Given the description of an element on the screen output the (x, y) to click on. 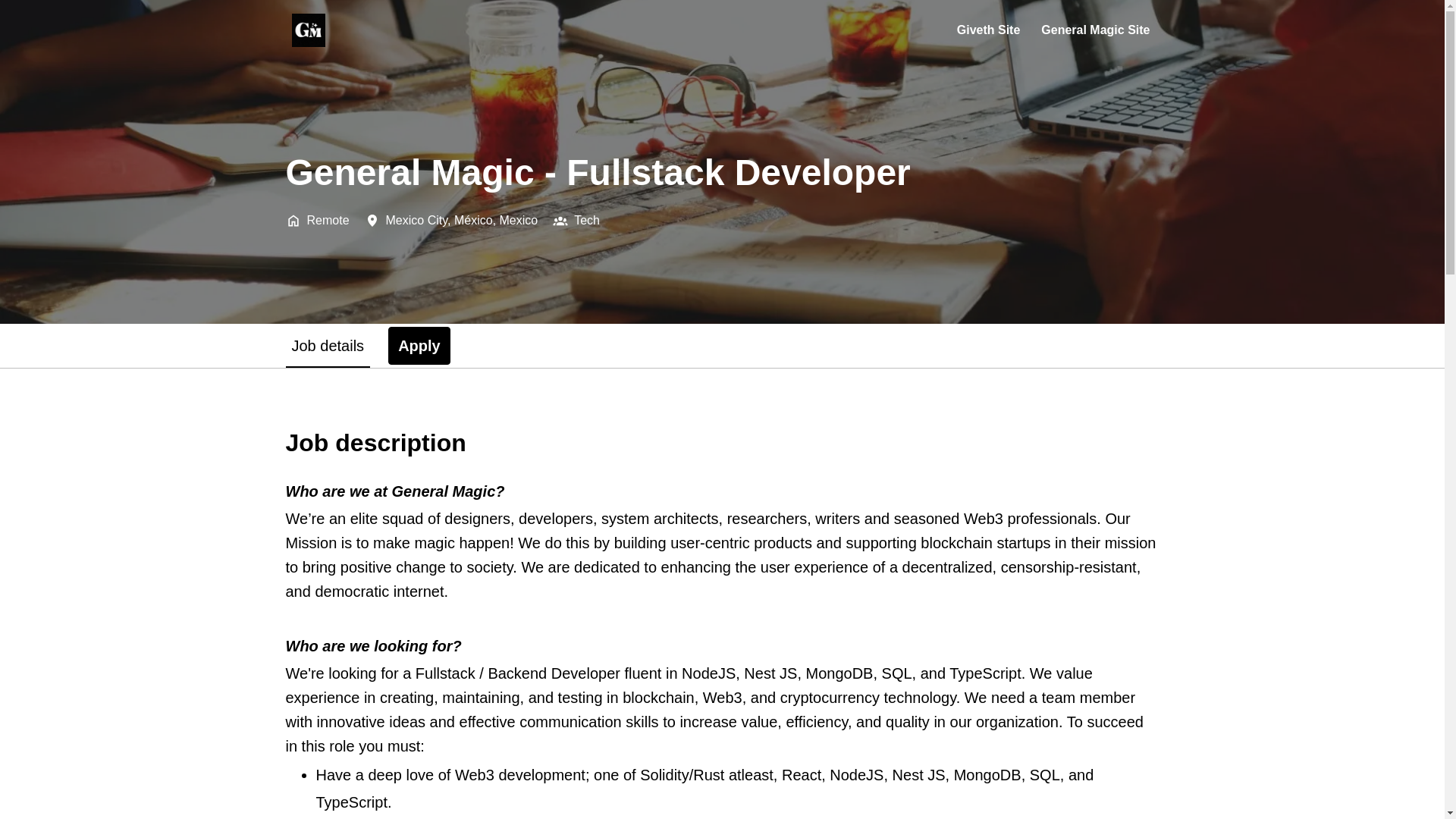
Giveth Site (988, 30)
Apply (418, 345)
General Magic Site (1095, 30)
Job details (327, 345)
